Given the description of an element on the screen output the (x, y) to click on. 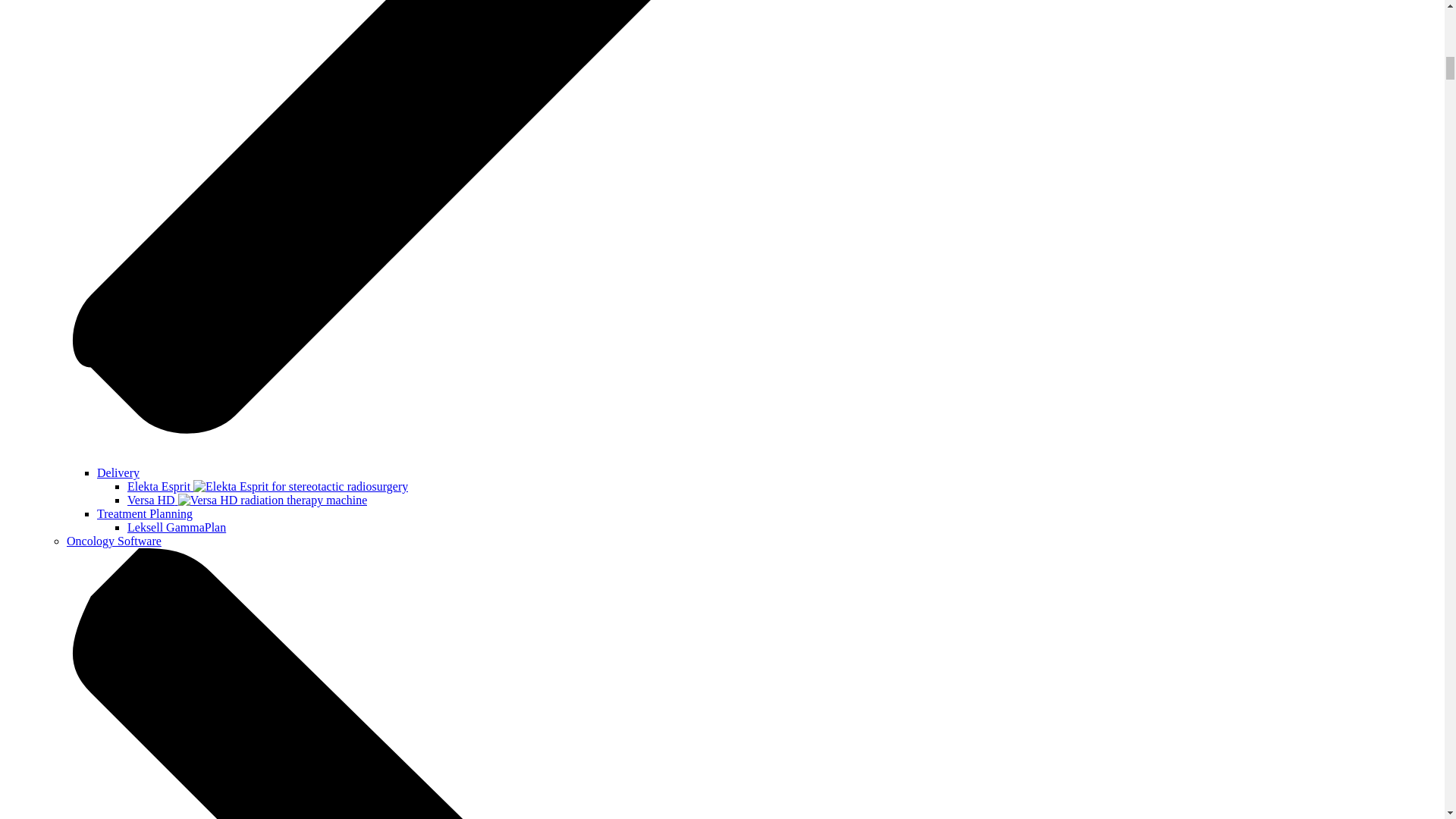
Leksell GammaPlan (176, 526)
Elekta Esprit (267, 486)
Treatment Planning (144, 513)
Versa HD (247, 499)
Delivery (118, 472)
